Given the description of an element on the screen output the (x, y) to click on. 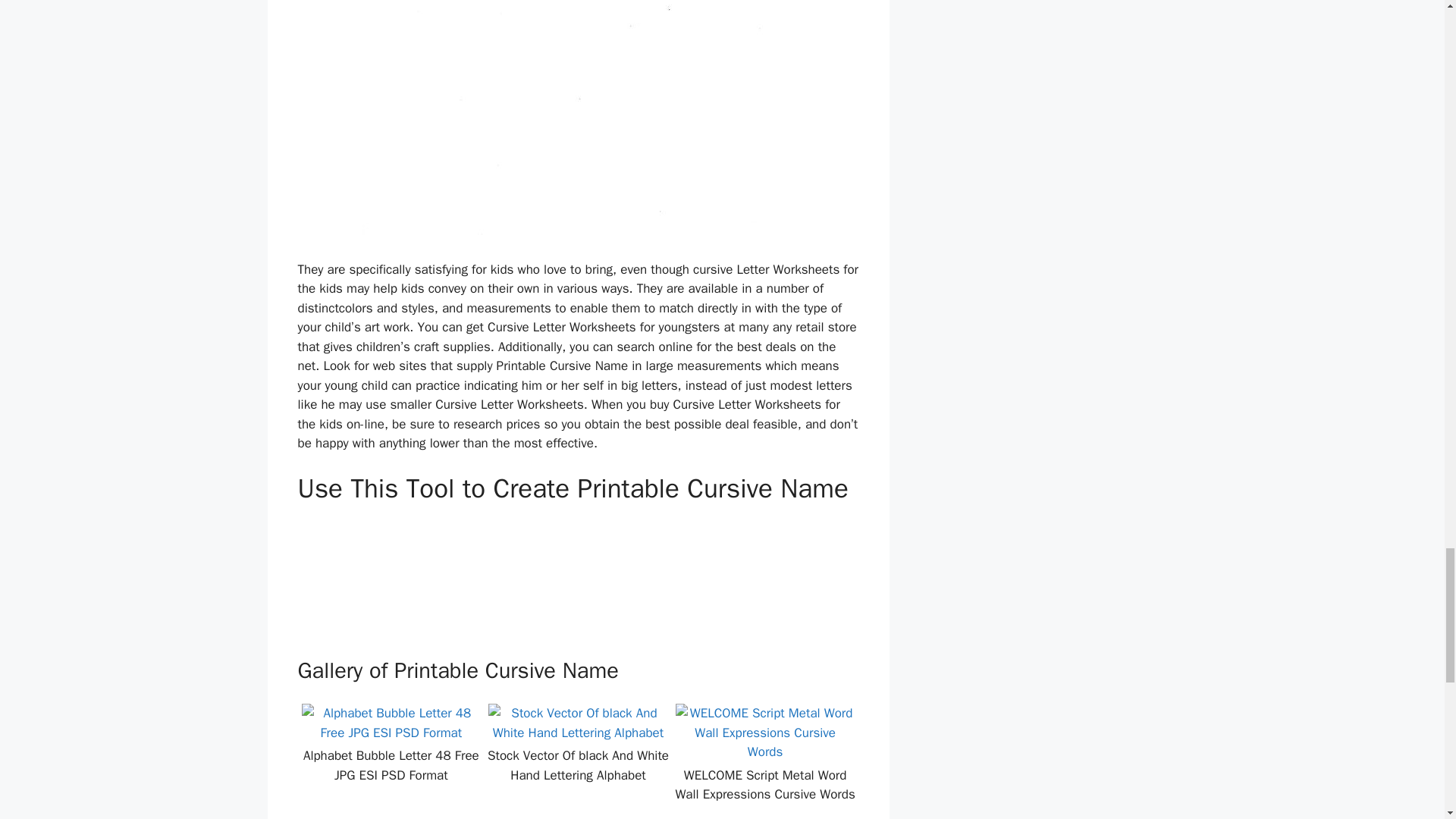
Handwriting Worksheet (410, 576)
